Given the description of an element on the screen output the (x, y) to click on. 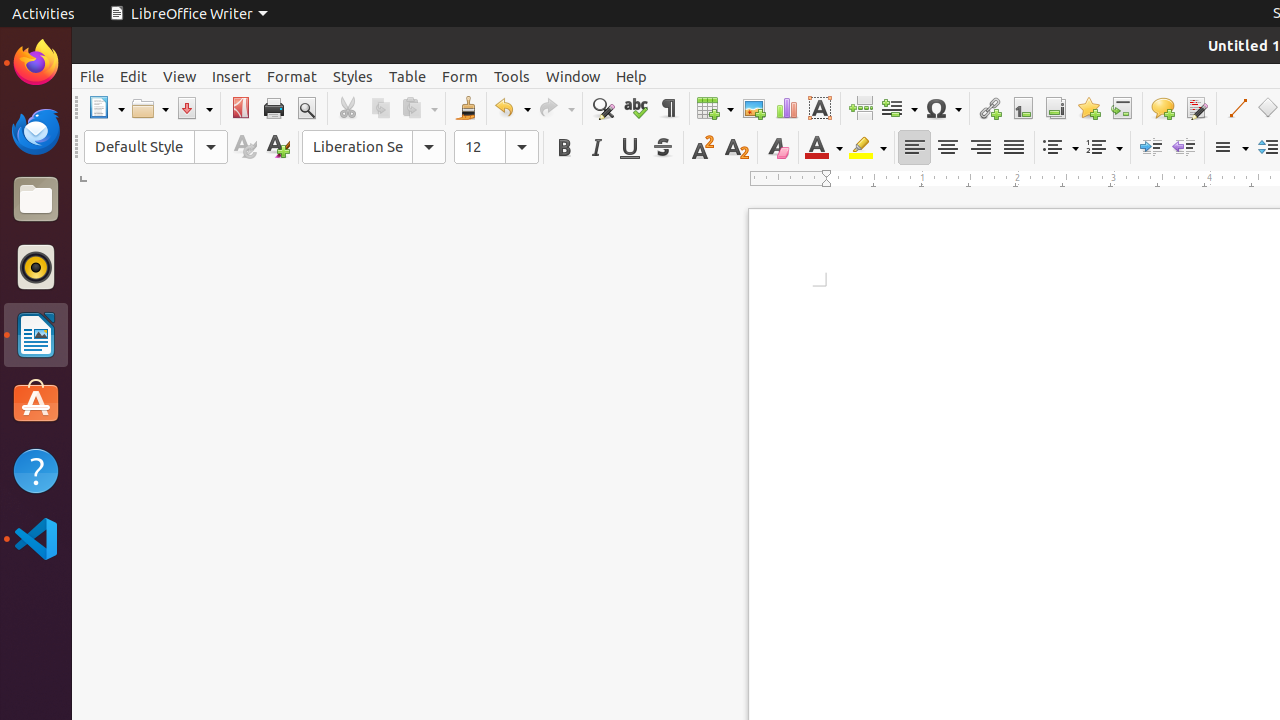
LibreOffice Writer Element type: push-button (36, 334)
Paragraph Style Element type: combo-box (156, 147)
PDF Element type: push-button (240, 108)
Copy Element type: push-button (380, 108)
Cross-reference Element type: push-button (1121, 108)
